Given the description of an element on the screen output the (x, y) to click on. 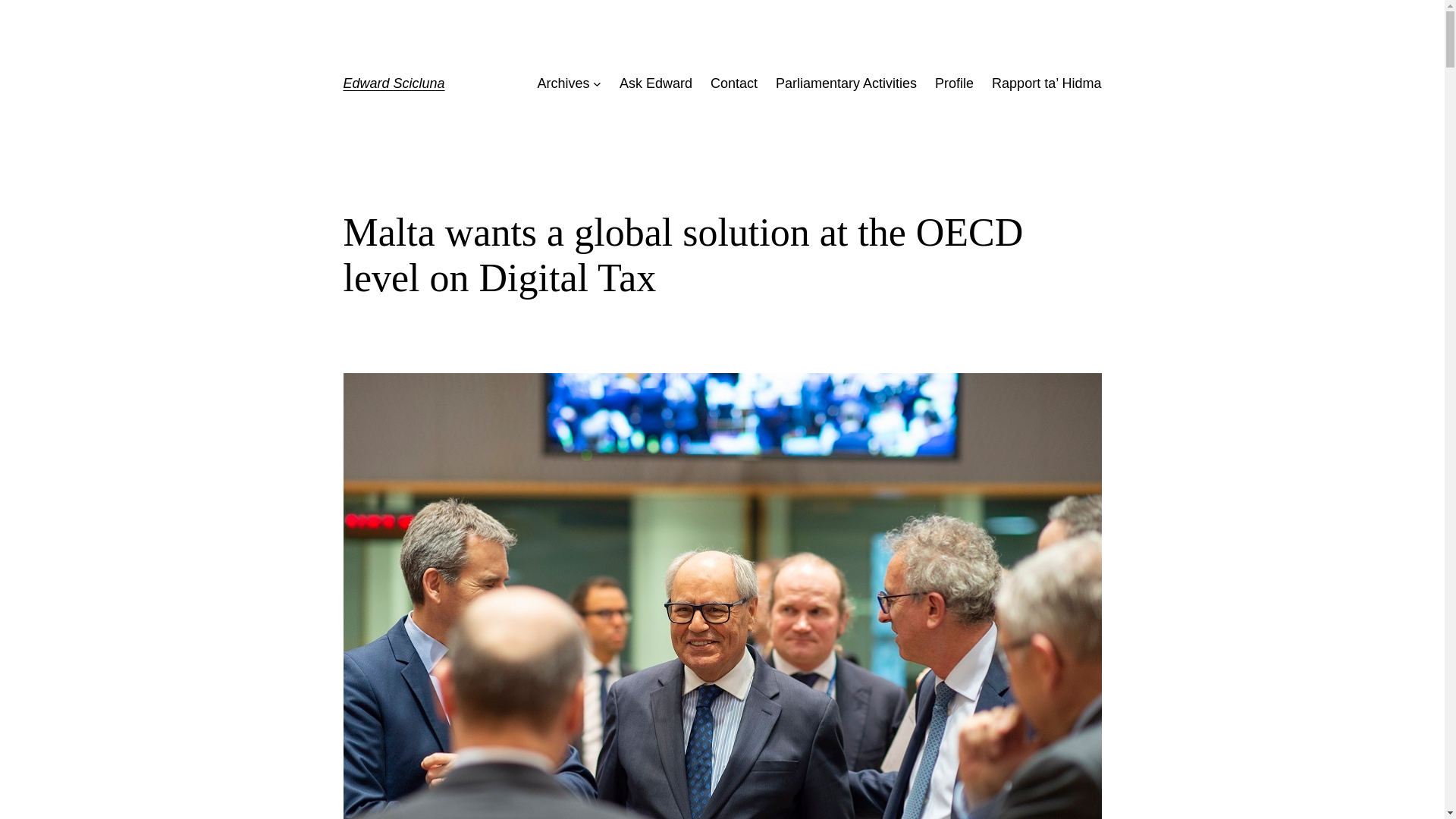
Parliamentary Activities (846, 83)
Ask Edward (656, 83)
Profile (954, 83)
Contact (733, 83)
Archives (563, 83)
Edward Scicluna (393, 83)
